Given the description of an element on the screen output the (x, y) to click on. 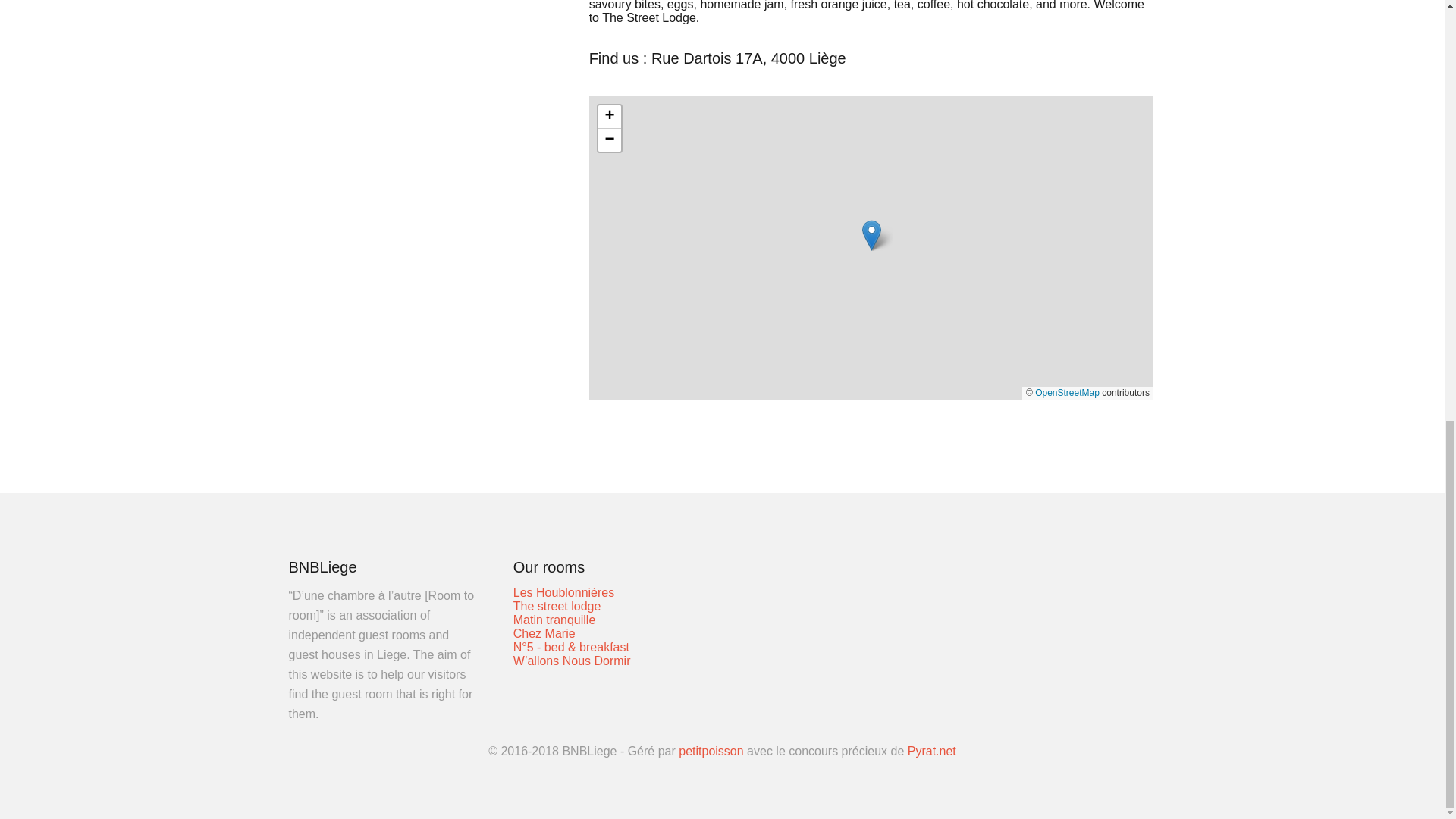
The street lodge (557, 605)
Matin tranquille (554, 619)
OpenStreetMap (1067, 392)
Zoom out (609, 139)
petitpoisson (710, 750)
Zoom in (609, 116)
Pyrat.net (931, 750)
Chez Marie (544, 633)
